Given the description of an element on the screen output the (x, y) to click on. 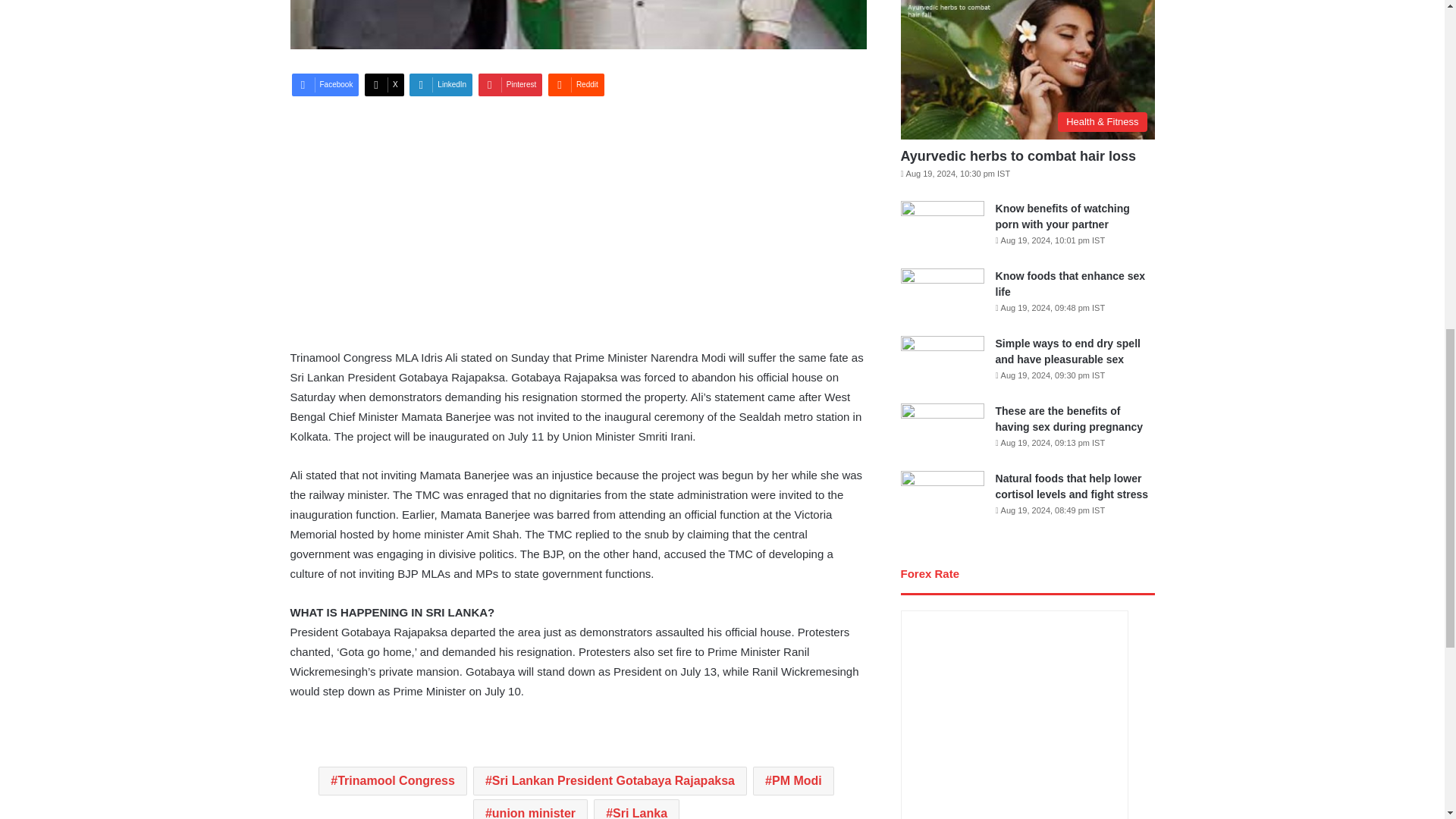
X (384, 84)
Pinterest (510, 84)
LinkedIn (440, 84)
Reddit (576, 84)
Facebook (324, 84)
